Given the description of an element on the screen output the (x, y) to click on. 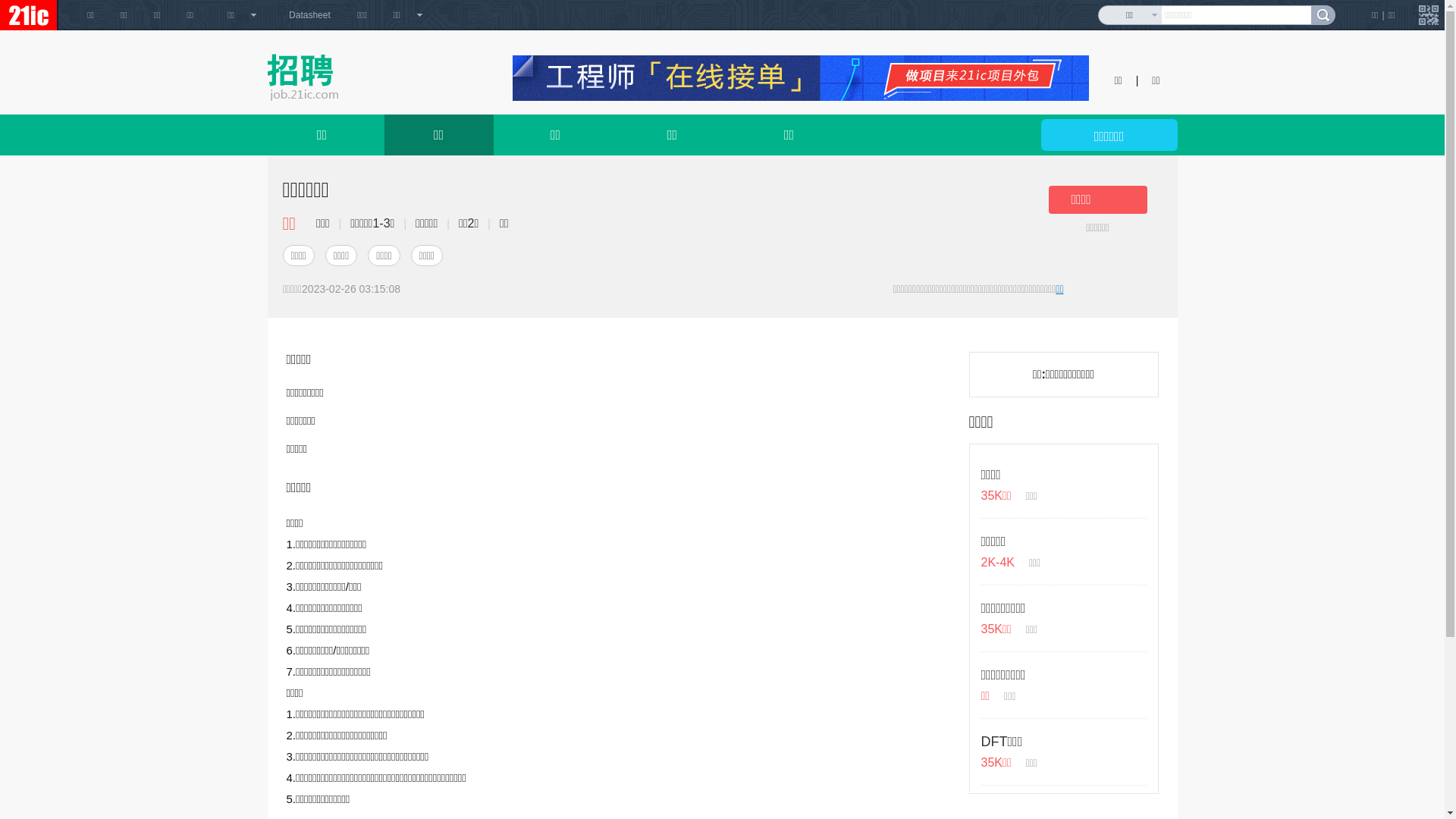
Datasheet Element type: text (309, 14)
